Given the description of an element on the screen output the (x, y) to click on. 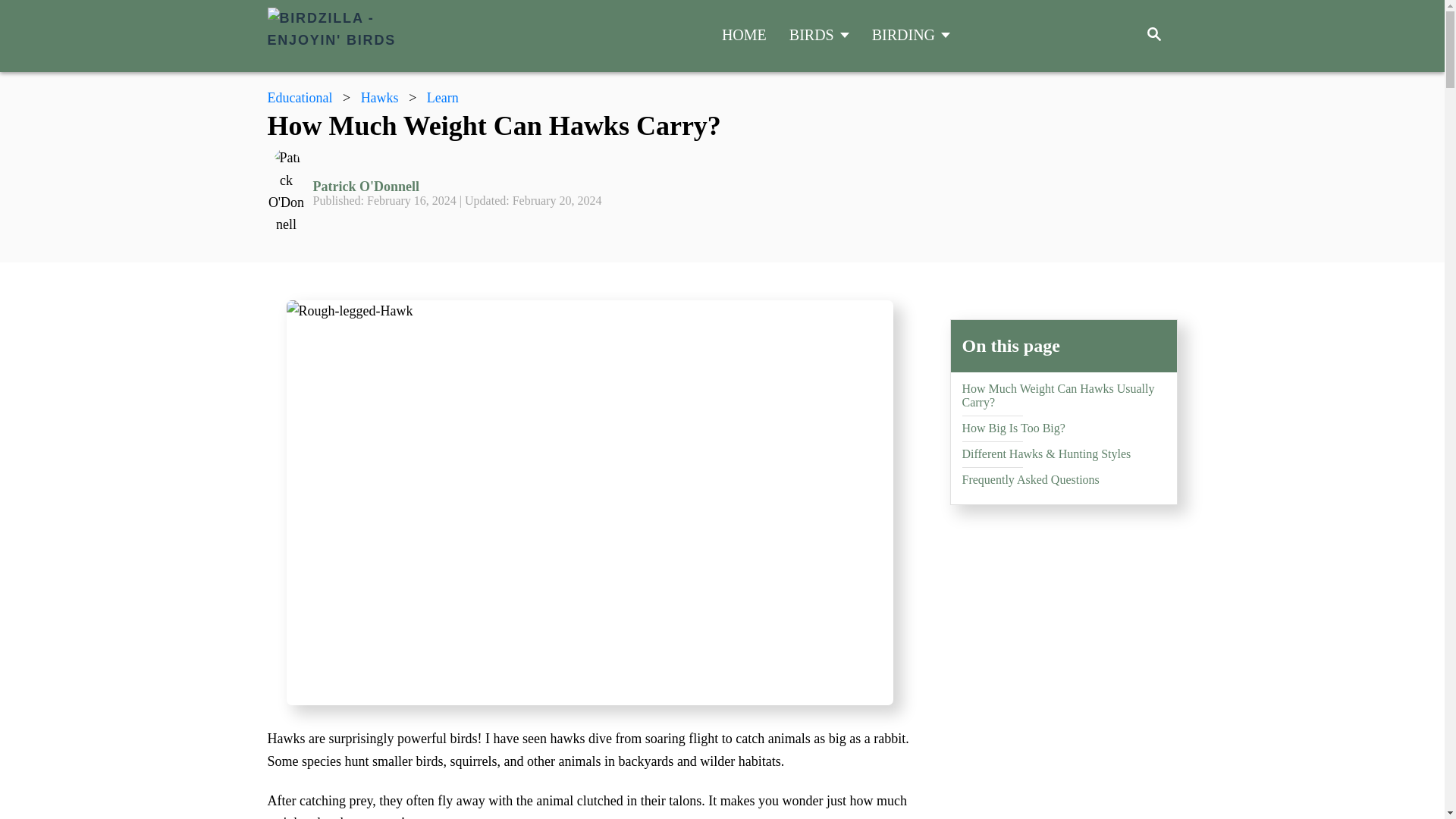
SEARCH (1153, 35)
Learn (442, 97)
Patrick O'Donnell (457, 186)
BIRDING (911, 34)
Birdzilla - Enjoyin' Birds (403, 35)
HOME (744, 34)
BIRDS (818, 34)
Educational (298, 97)
Hawks (379, 97)
Patrick O'Donnell (457, 186)
